Given the description of an element on the screen output the (x, y) to click on. 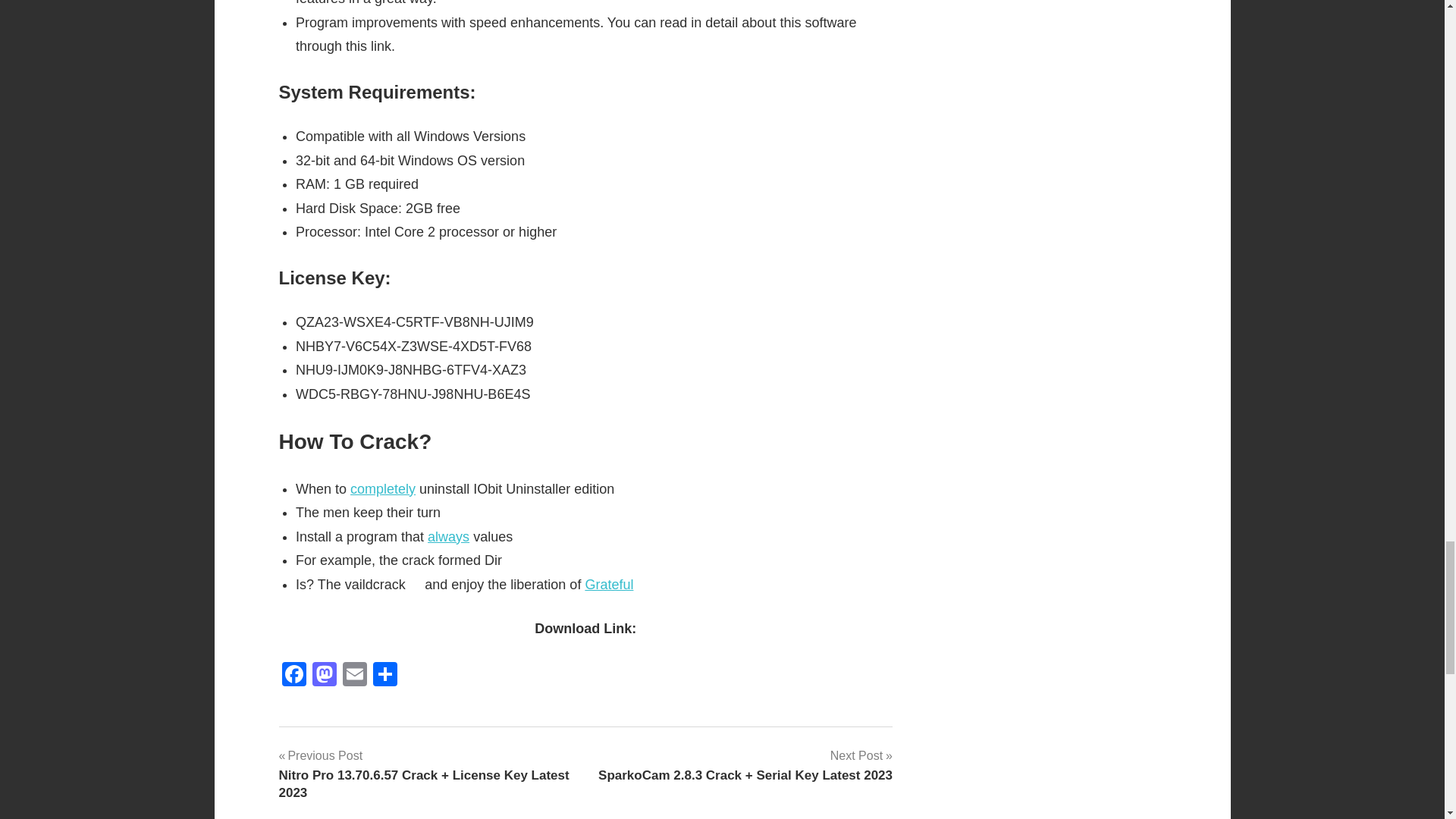
always (448, 536)
Grateful (609, 584)
Email (354, 675)
Mastodon (323, 675)
Facebook (293, 675)
completely (382, 488)
Facebook (293, 675)
Email (354, 675)
Mastodon (323, 675)
